Given the description of an element on the screen output the (x, y) to click on. 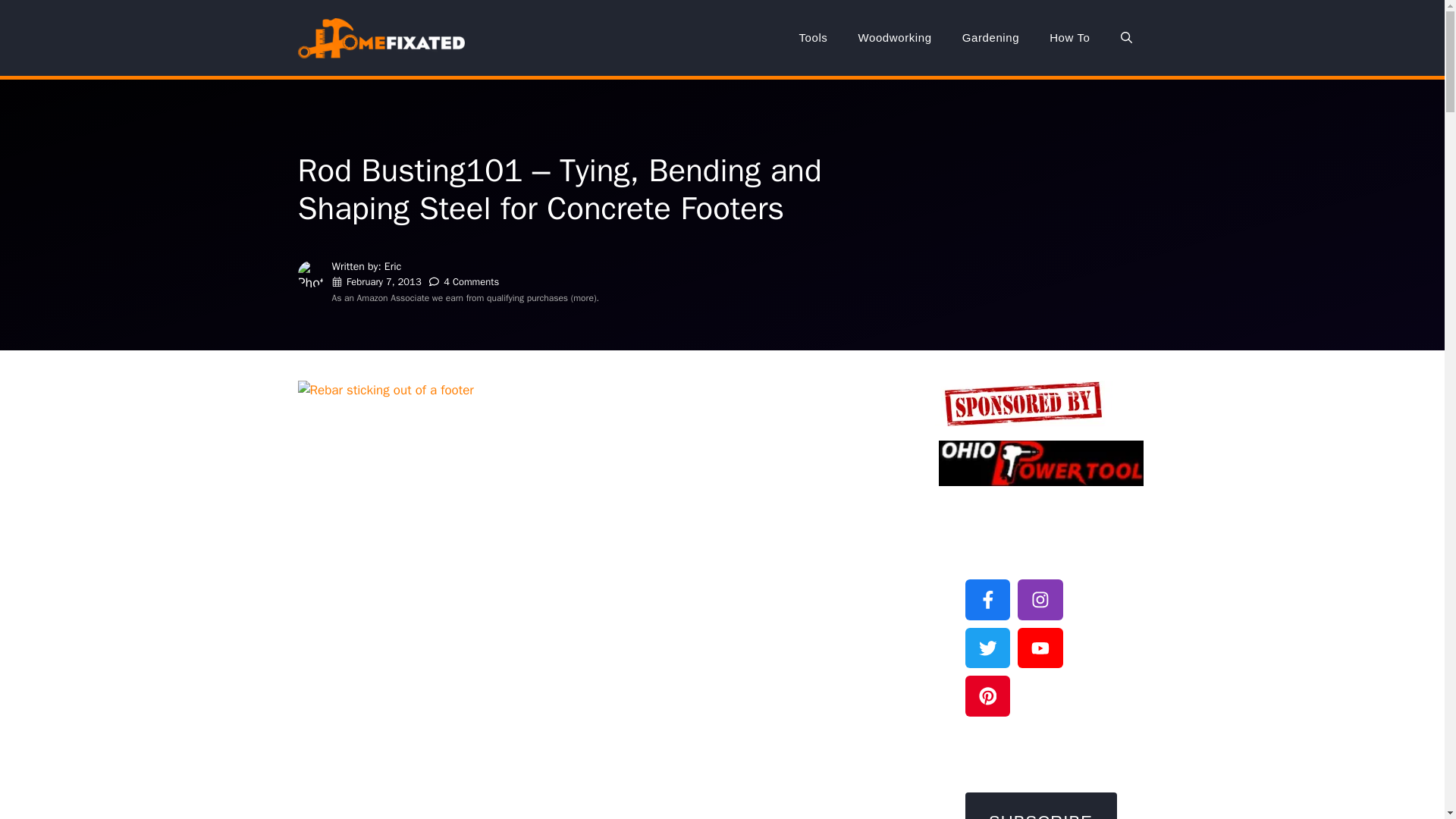
Tools (813, 37)
4 Comments (471, 281)
How To (1069, 37)
Gardening (990, 37)
Eric (392, 266)
sponsored-by (1023, 402)
more (583, 297)
Woodworking (894, 37)
